Given the description of an element on the screen output the (x, y) to click on. 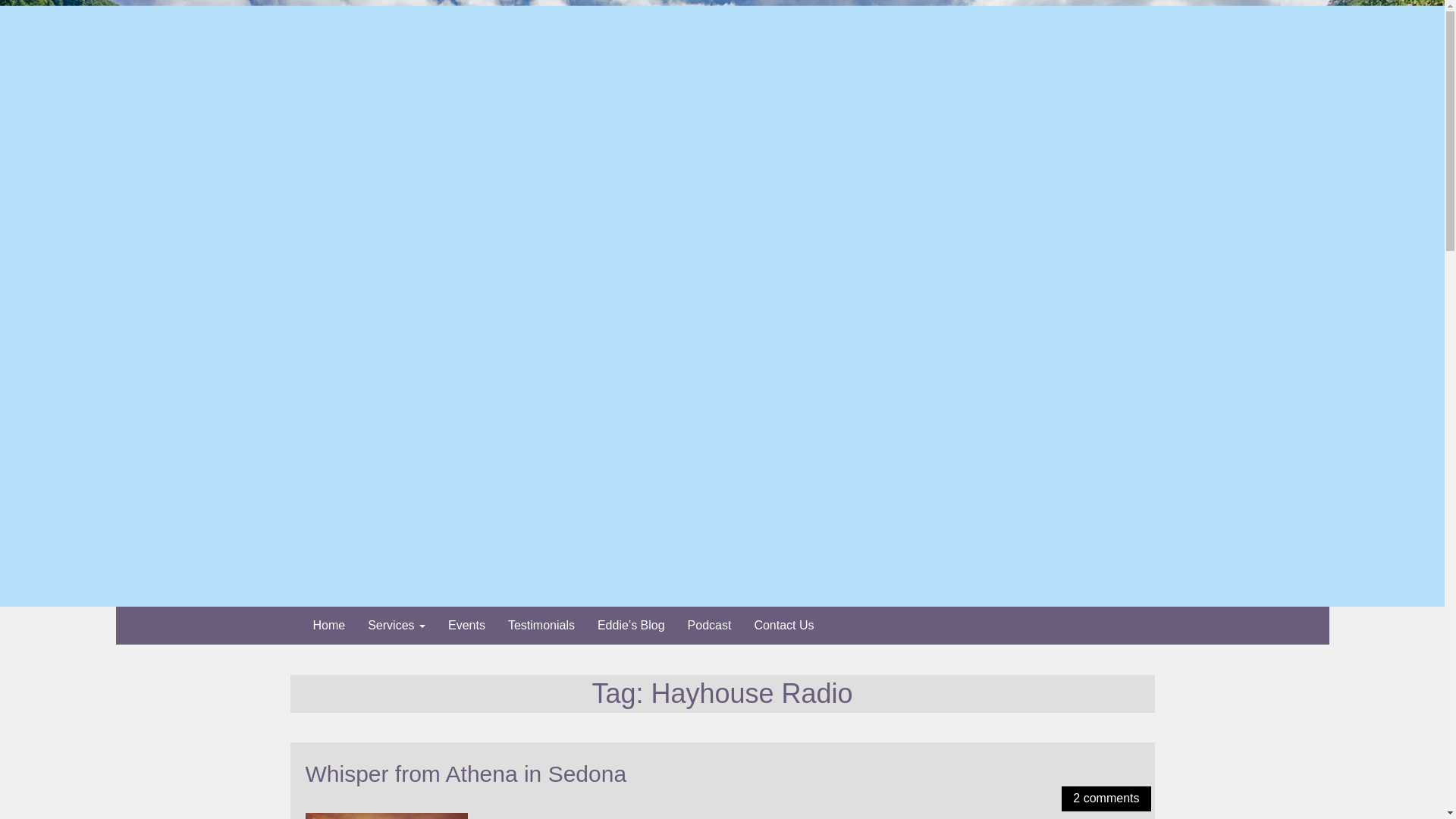
Whisper from Athena in Sedona (465, 773)
Testimonials (541, 625)
Home (328, 625)
Podcast (709, 625)
Testimonials (541, 625)
Podcast (709, 625)
Events (466, 625)
Events (466, 625)
Eddie's Blog (631, 625)
Services (396, 625)
